Given the description of an element on the screen output the (x, y) to click on. 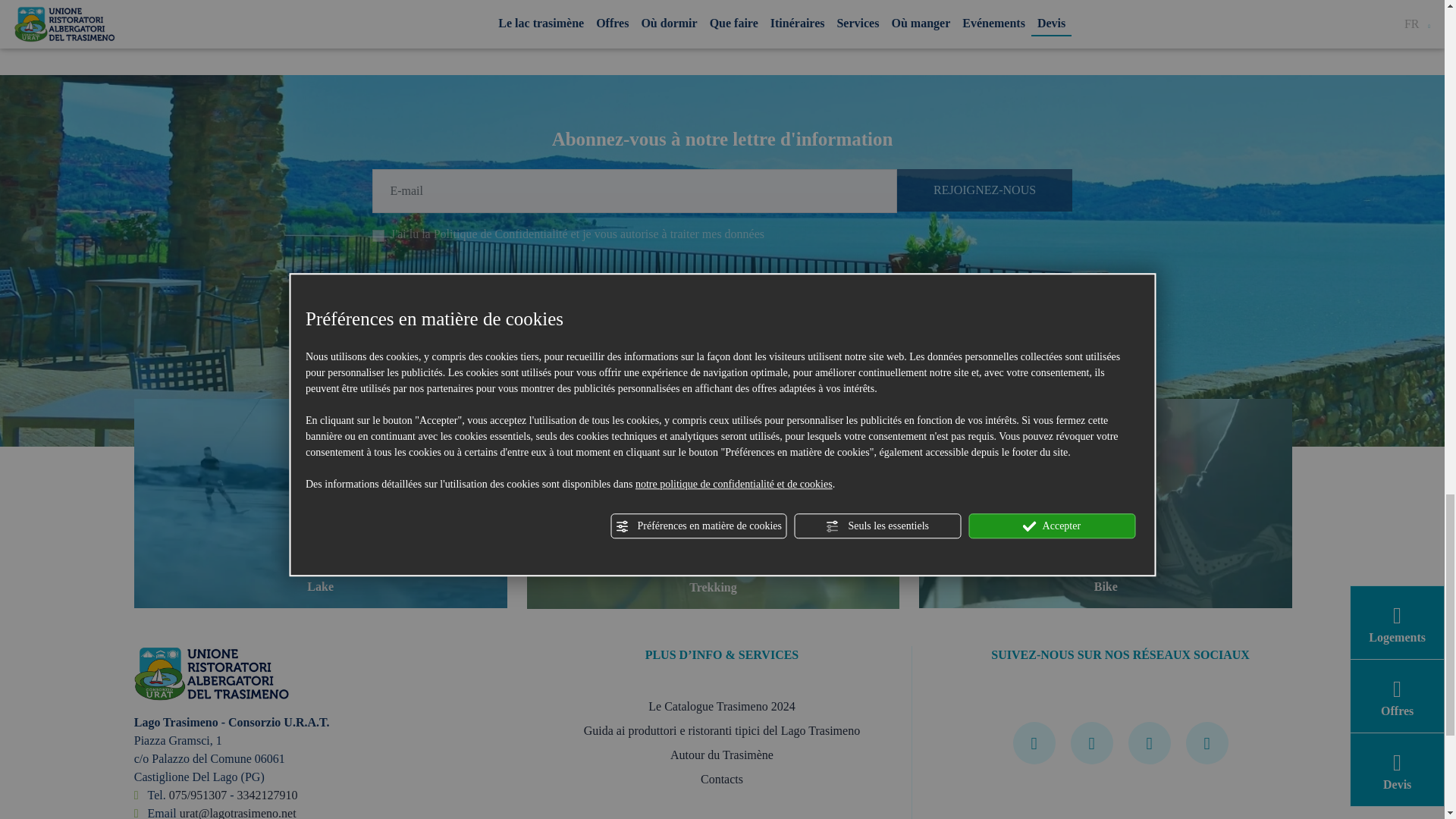
on (378, 235)
